Given the description of an element on the screen output the (x, y) to click on. 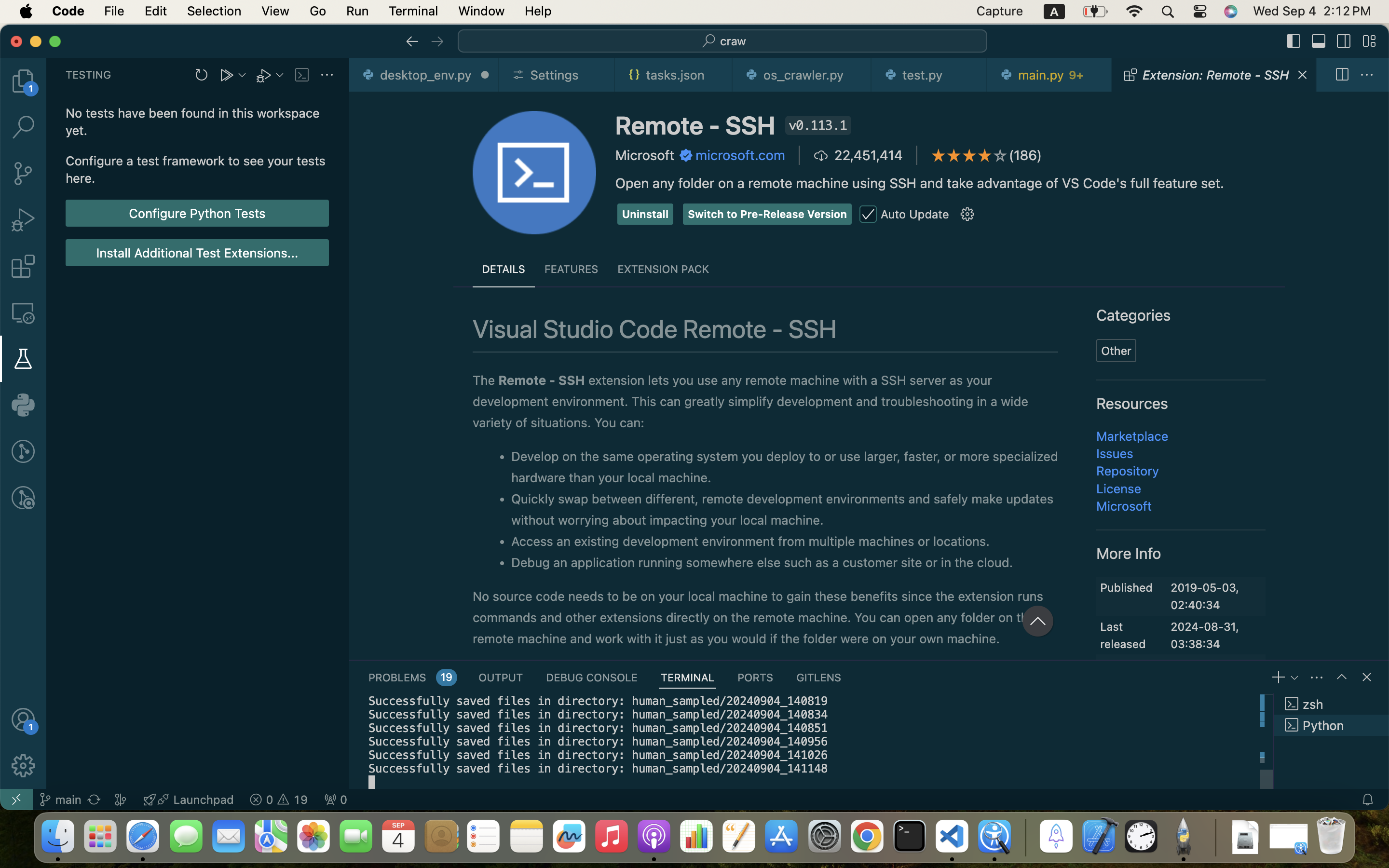
0  Element type: AXRadioButton (23, 80)
 Element type: AXGroup (23, 451)
 Element type: AXCheckBox (1344, 41)
Last released Element type: AXStaticText (1122, 635)
1  Element type: AXRadioButton (23, 358)
